Given the description of an element on the screen output the (x, y) to click on. 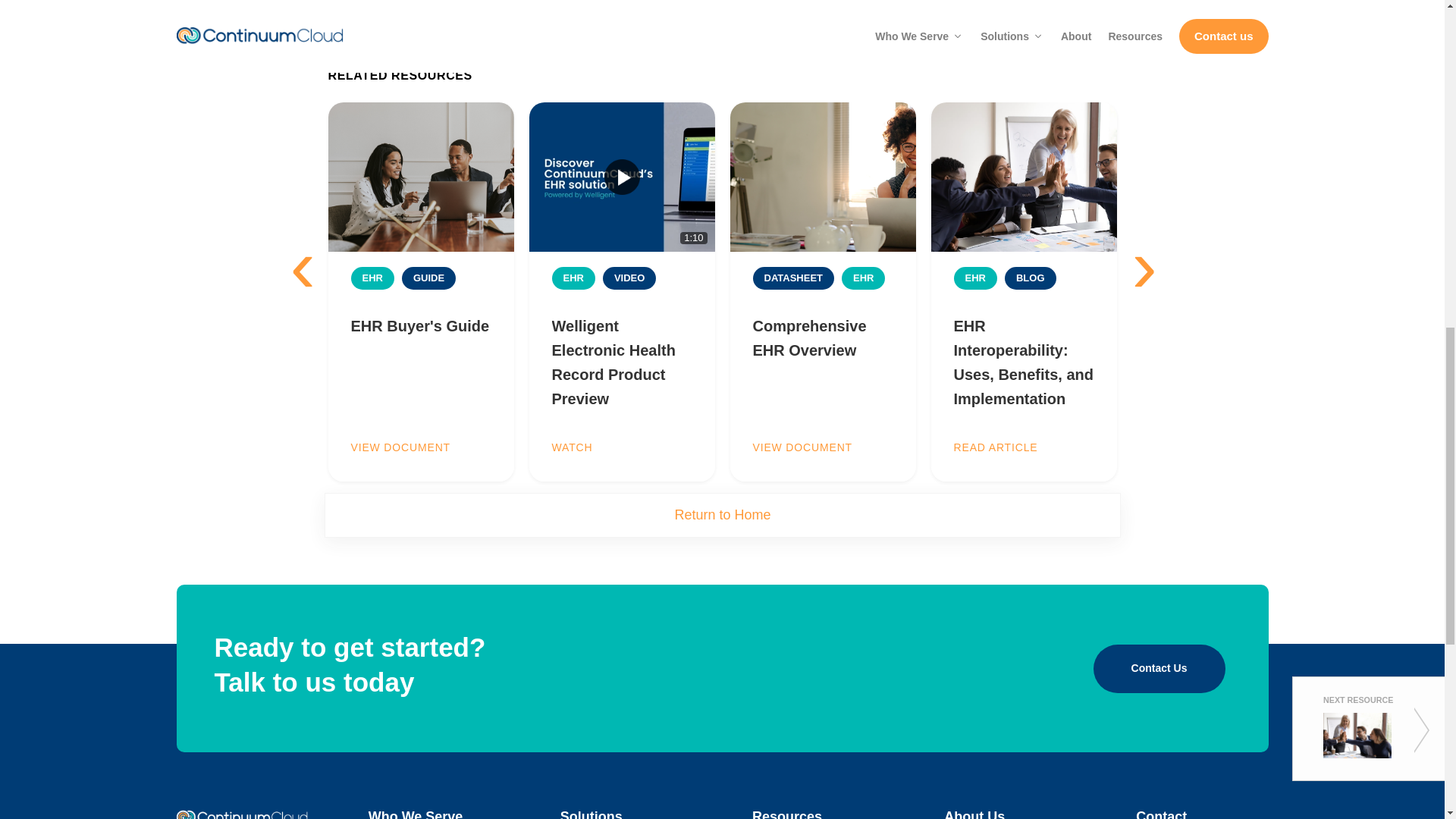
ContinuumCloud Logo White (241, 814)
